Given the description of an element on the screen output the (x, y) to click on. 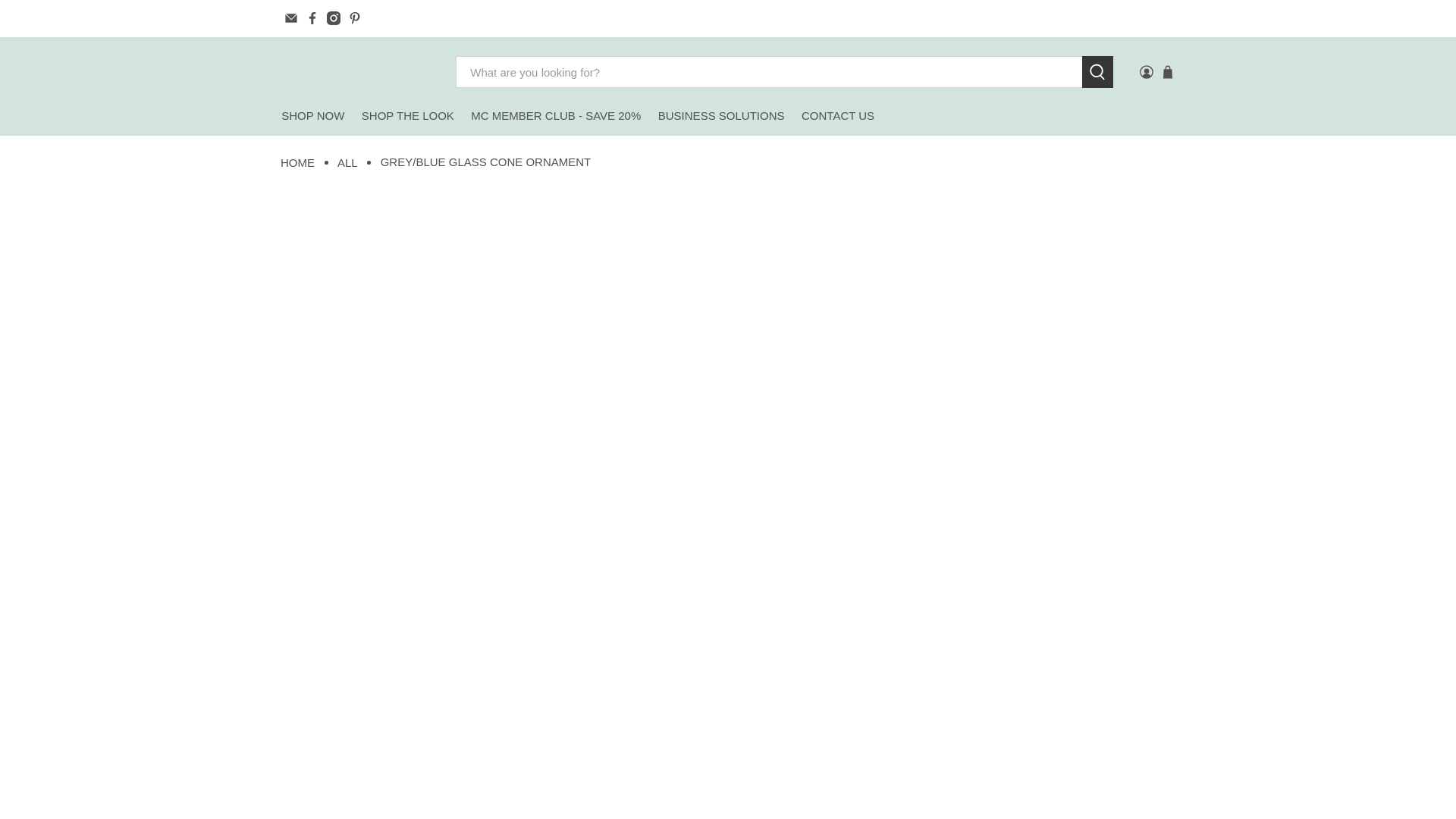
My Christmas on Facebook (311, 18)
My Christmas on Pinterest (354, 18)
CONTACT US (838, 116)
My Christmas (297, 162)
My Christmas on Instagram (333, 18)
SHOP THE LOOK (408, 116)
Email My Christmas (290, 18)
SHOP NOW (313, 116)
My Christmas (356, 72)
BUSINESS SOLUTIONS (721, 116)
